Given the description of an element on the screen output the (x, y) to click on. 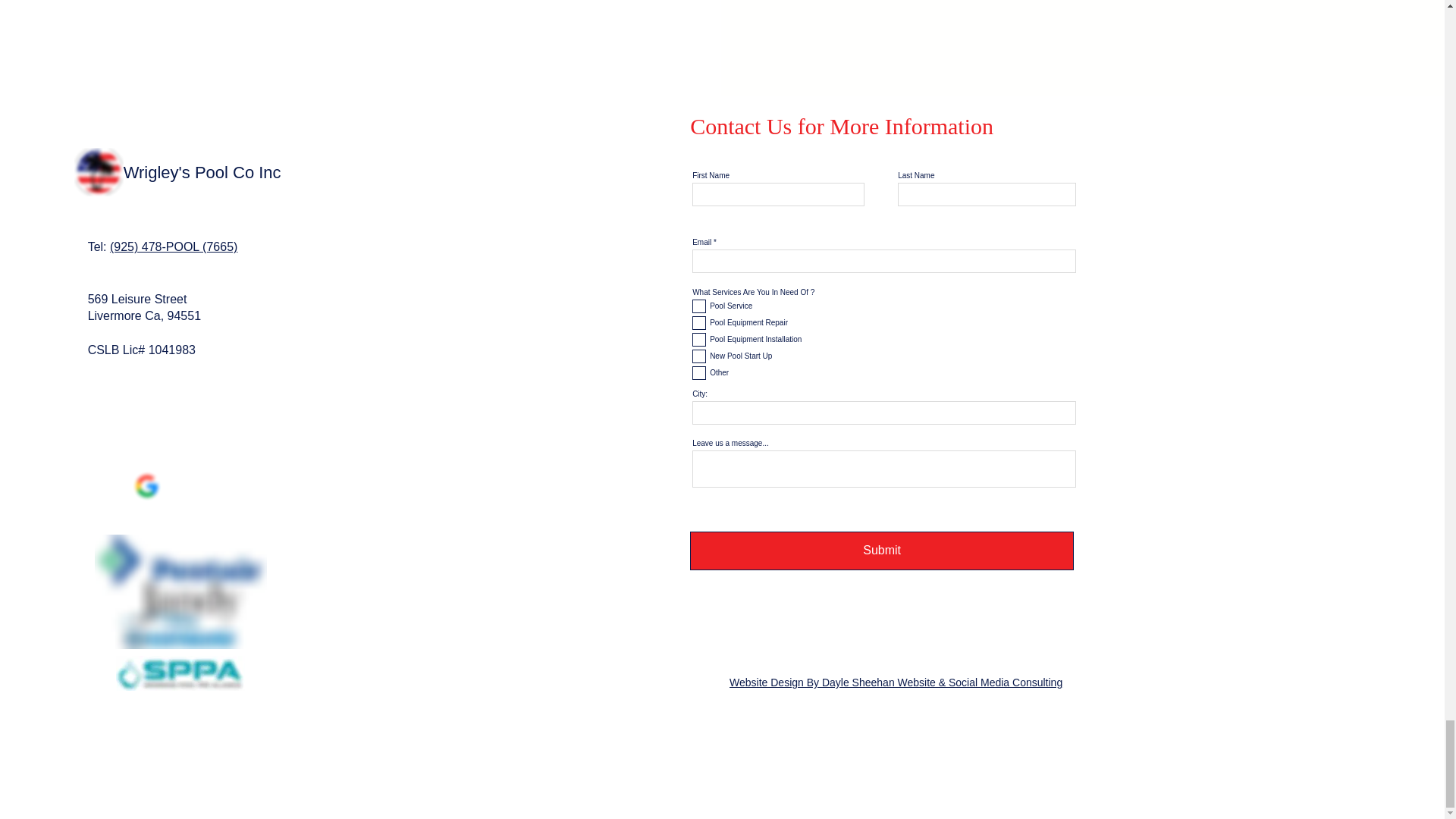
Wrigley's Pool Co.  (180, 591)
Wrigley's Pool Co.  (180, 673)
Wrigley's Pool Co.  (98, 172)
